Given the description of an element on the screen output the (x, y) to click on. 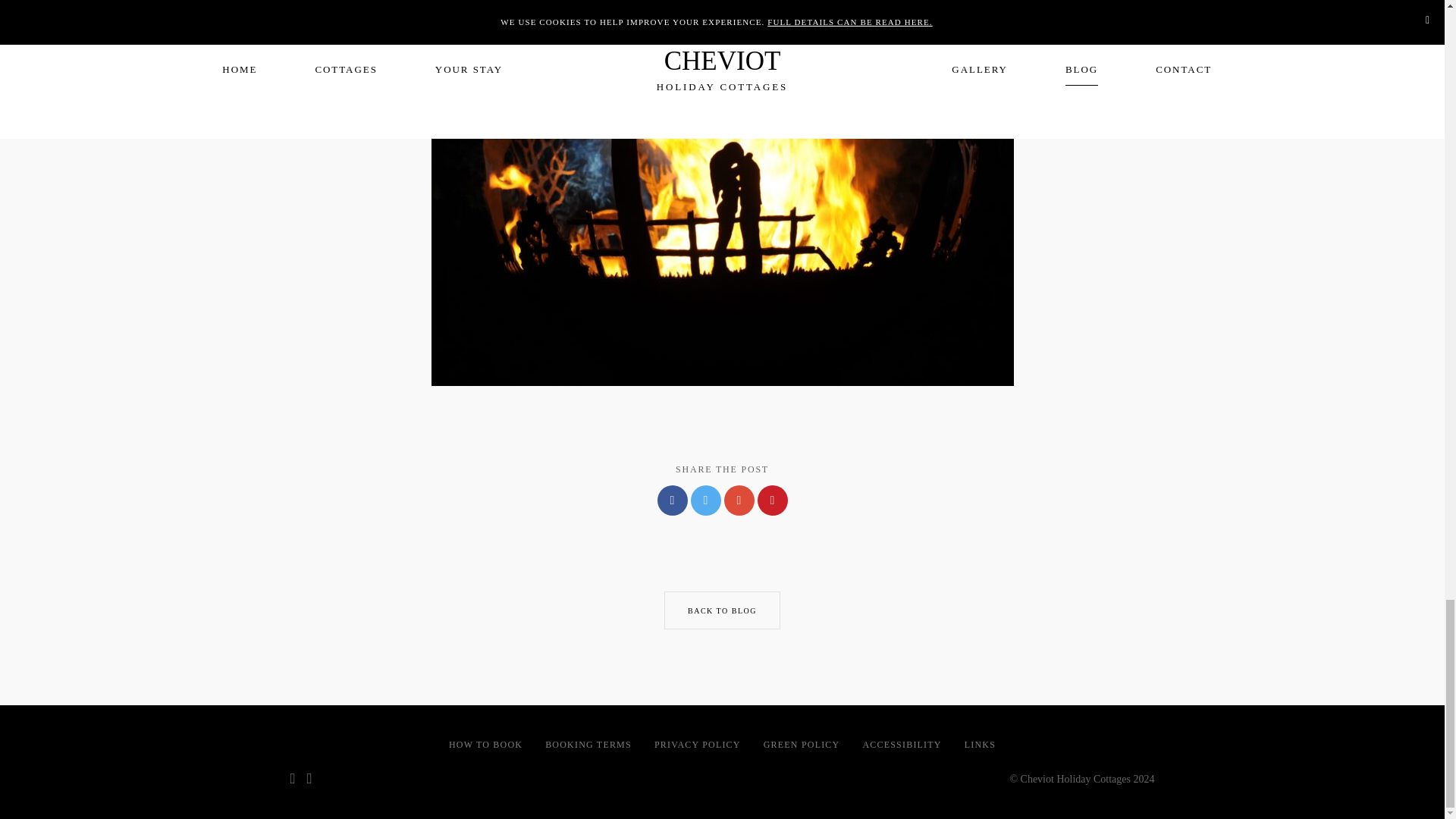
LINKS (979, 744)
HOW TO BOOK (485, 744)
BACK TO BLOG (721, 610)
BOOKING TERMS (587, 744)
PRIVACY POLICY (697, 744)
ACCESSIBILITY (900, 744)
GREEN POLICY (801, 744)
